Given the description of an element on the screen output the (x, y) to click on. 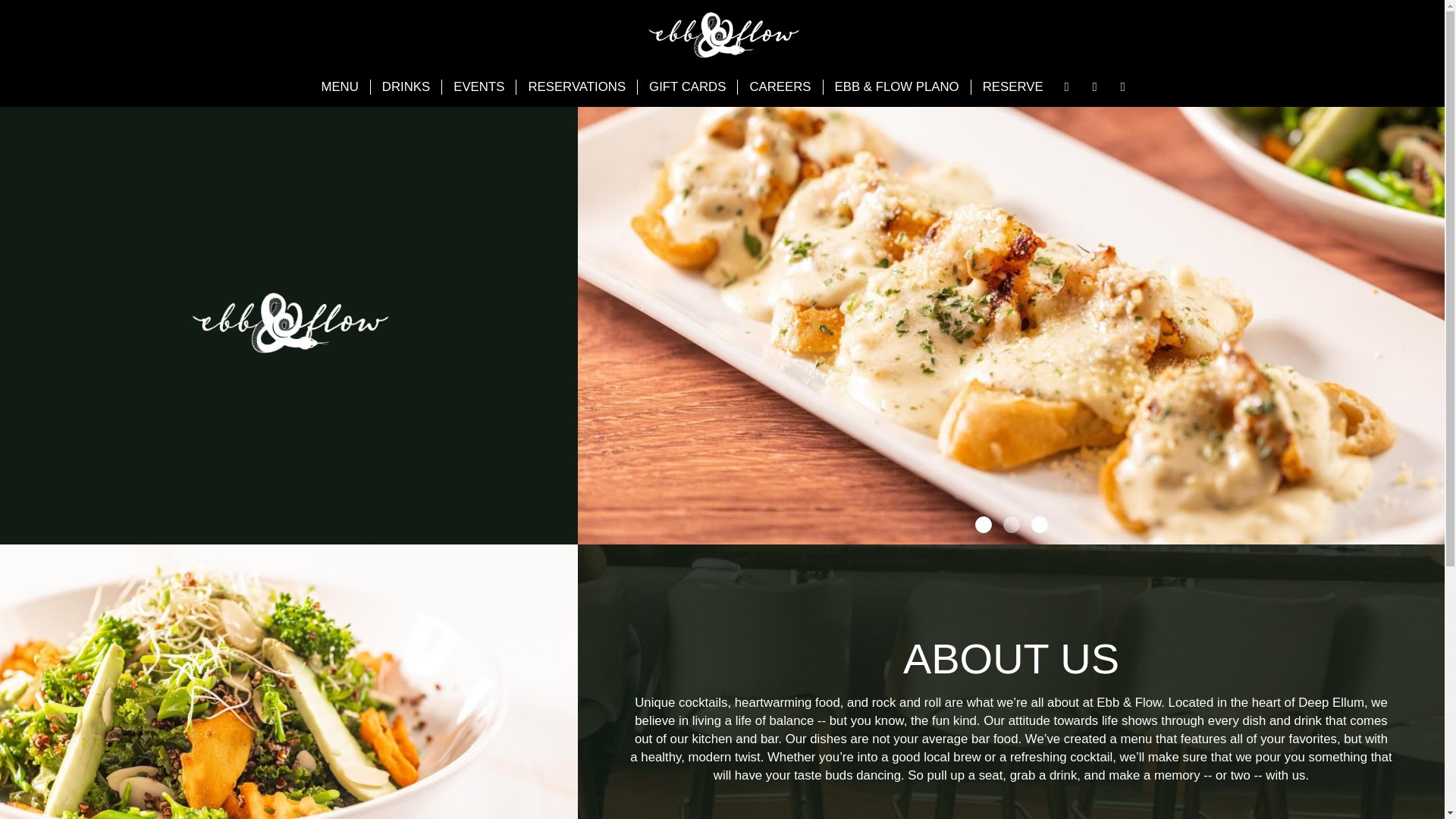
MENU (338, 87)
RESERVATIONS (576, 87)
DRINKS (406, 87)
CAREERS (780, 87)
EVENTS (479, 87)
RESERVE (1012, 87)
GIFT CARDS (687, 87)
